Given the description of an element on the screen output the (x, y) to click on. 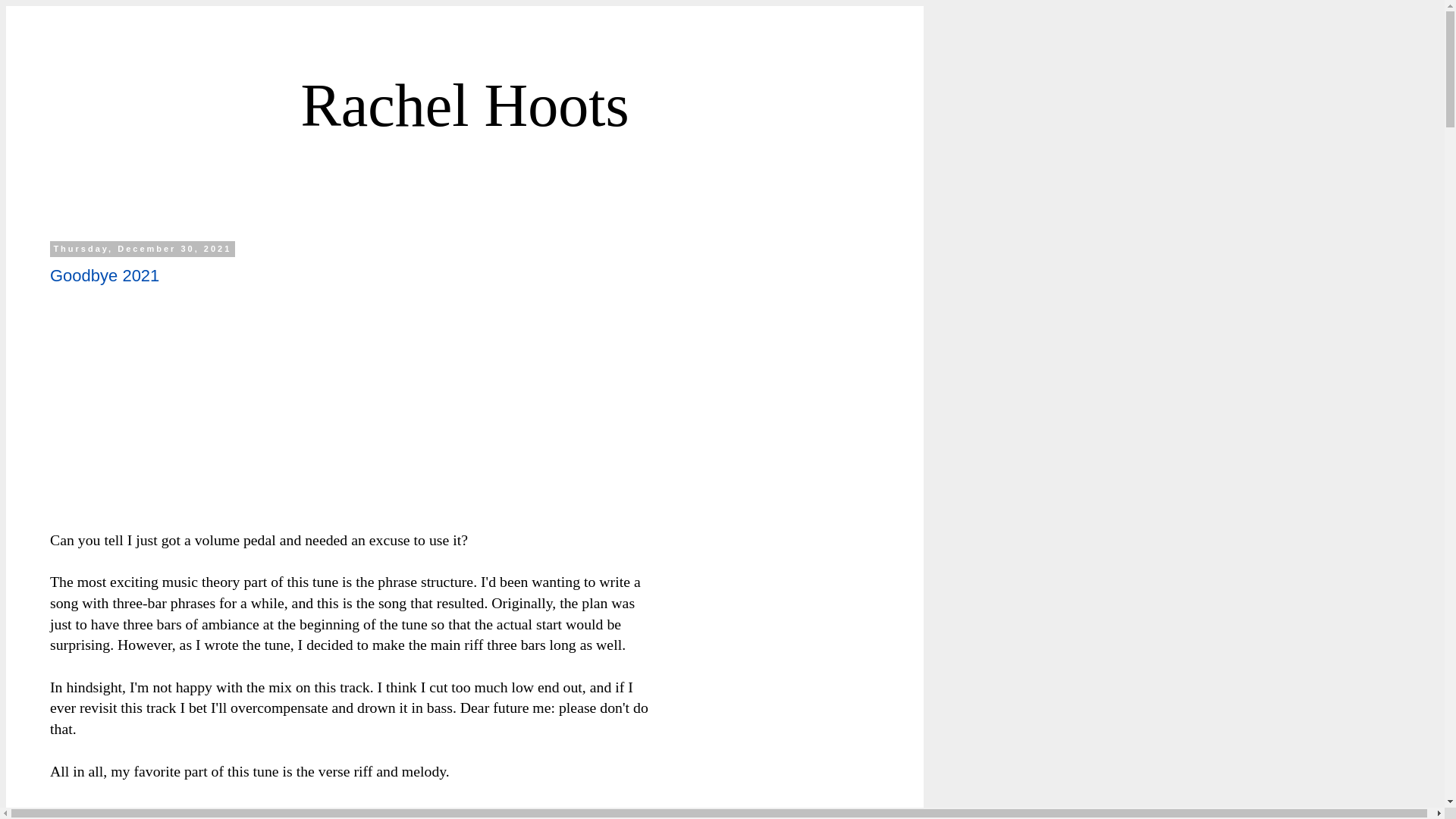
Rachel Hoots (463, 105)
Goodbye 2021 (103, 275)
